Given the description of an element on the screen output the (x, y) to click on. 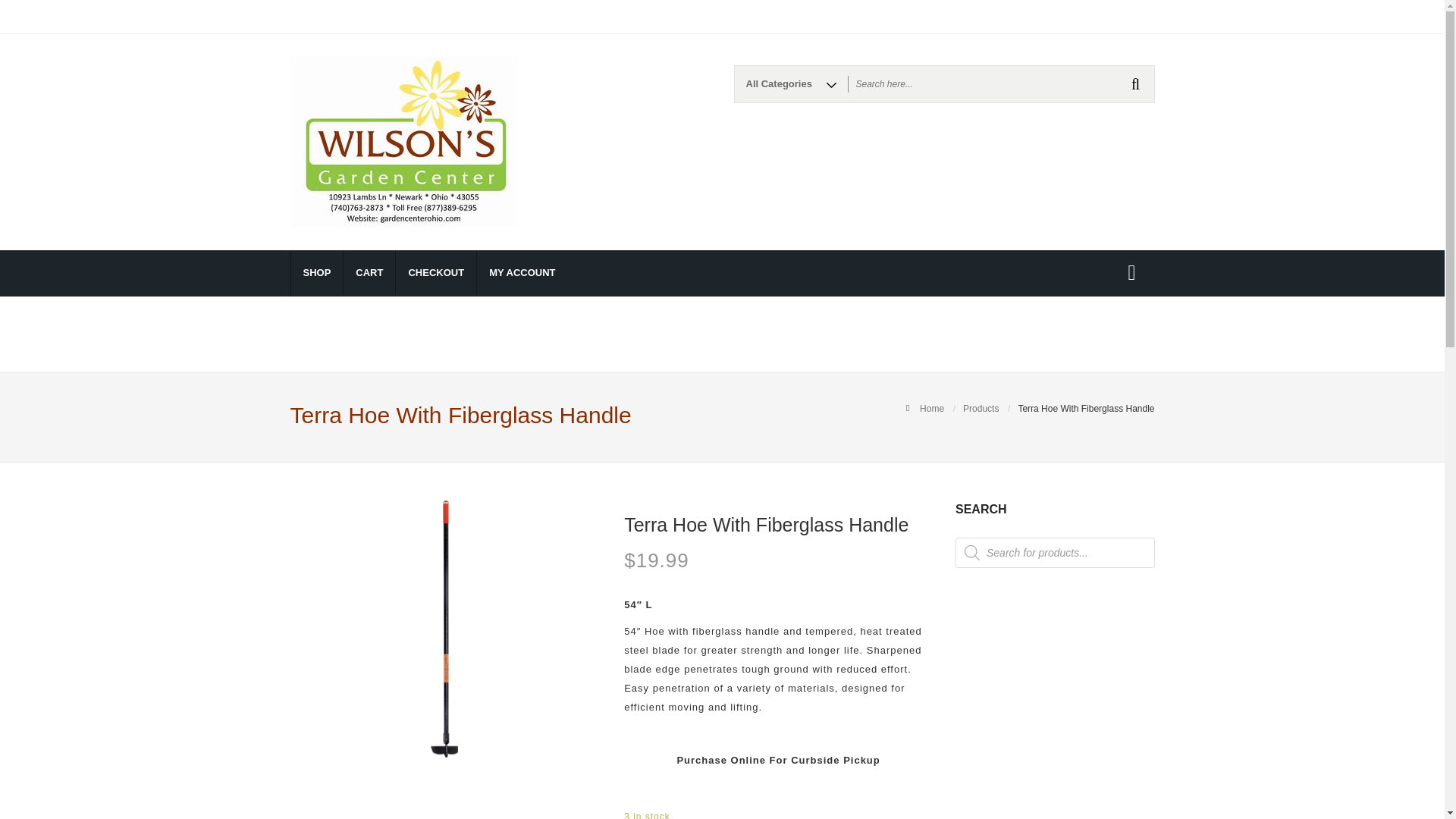
Shop (315, 272)
Terra Hoe With Fiberglass Handle (443, 628)
Checkout (435, 272)
CHECKOUT (435, 272)
Home (931, 408)
Cart (368, 272)
CART (368, 272)
SHOP (315, 272)
My Account (521, 272)
Products (980, 408)
MY ACCOUNT (521, 272)
